Given the description of an element on the screen output the (x, y) to click on. 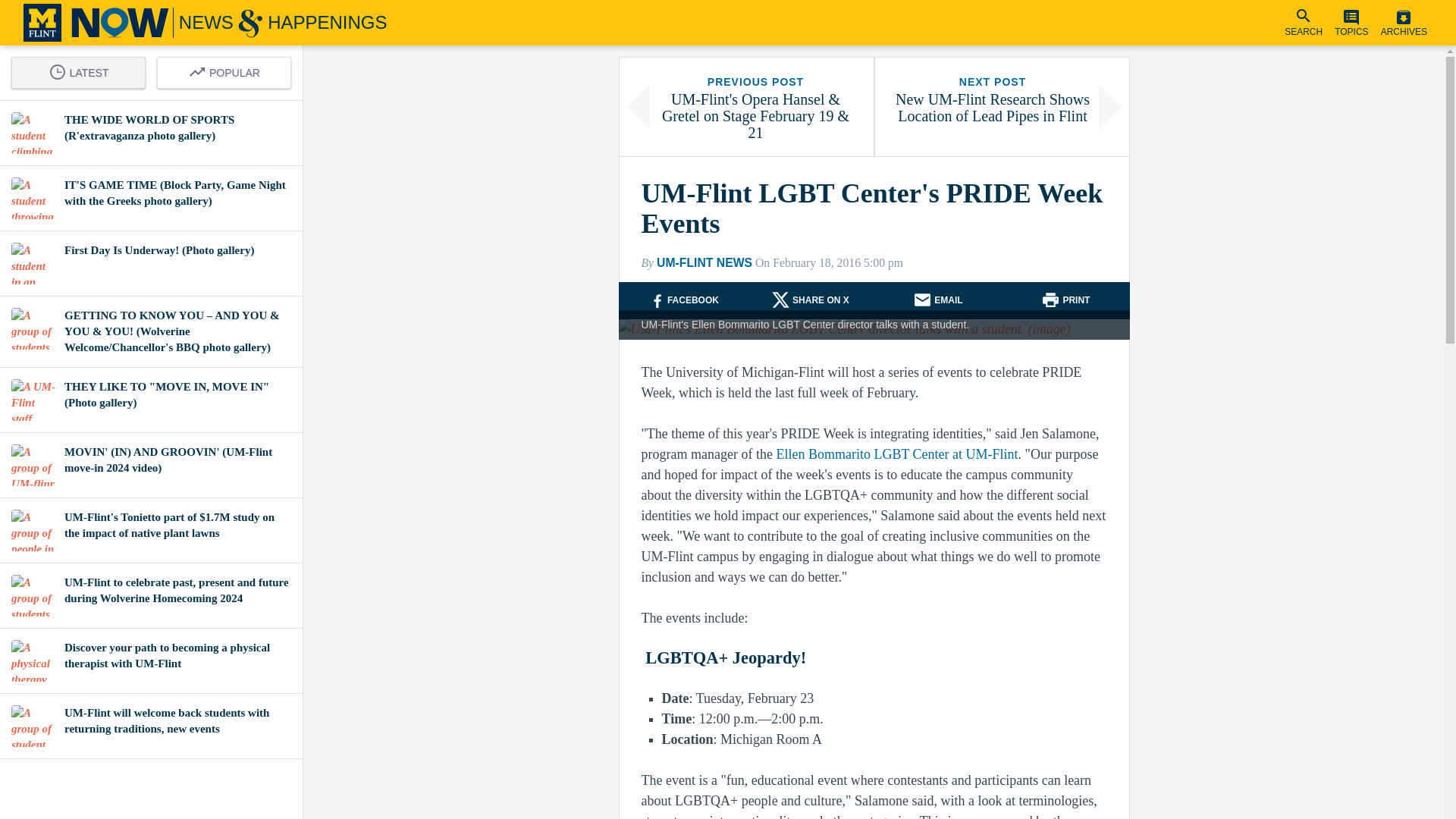
Search the UM-Flint NOW site (1303, 22)
Share this on Facebook (692, 300)
Share this on X (820, 300)
Explore our archives (1404, 22)
Go to the frontpage (227, 22)
Go to umflint.edu (42, 22)
UM-FLINT NEWS (704, 262)
UM-Flint Homepage (42, 22)
Ellen Bommarito LGBT Center at UM-Flint (896, 453)
